Given the description of an element on the screen output the (x, y) to click on. 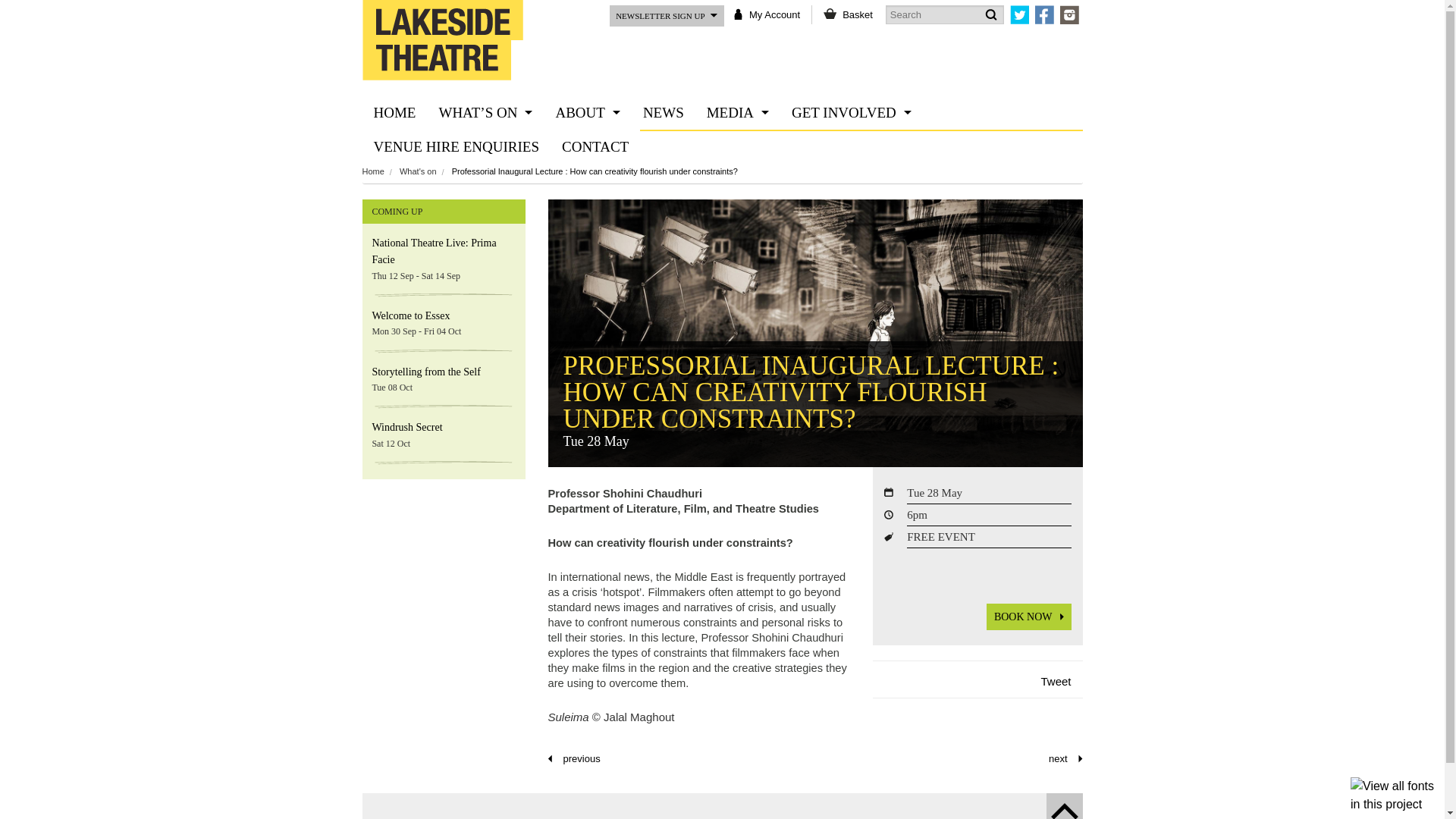
Basket (857, 14)
SHOW ARCHIVE (484, 180)
BECOME A MEMBER (851, 214)
NEWS (663, 112)
MEDIA (737, 112)
LISTINGS (484, 146)
HOMEGROWN (851, 146)
Re:Write (1065, 757)
UNIVERSITY OF ESSEX (586, 214)
ABOUT (586, 112)
